Given the description of an element on the screen output the (x, y) to click on. 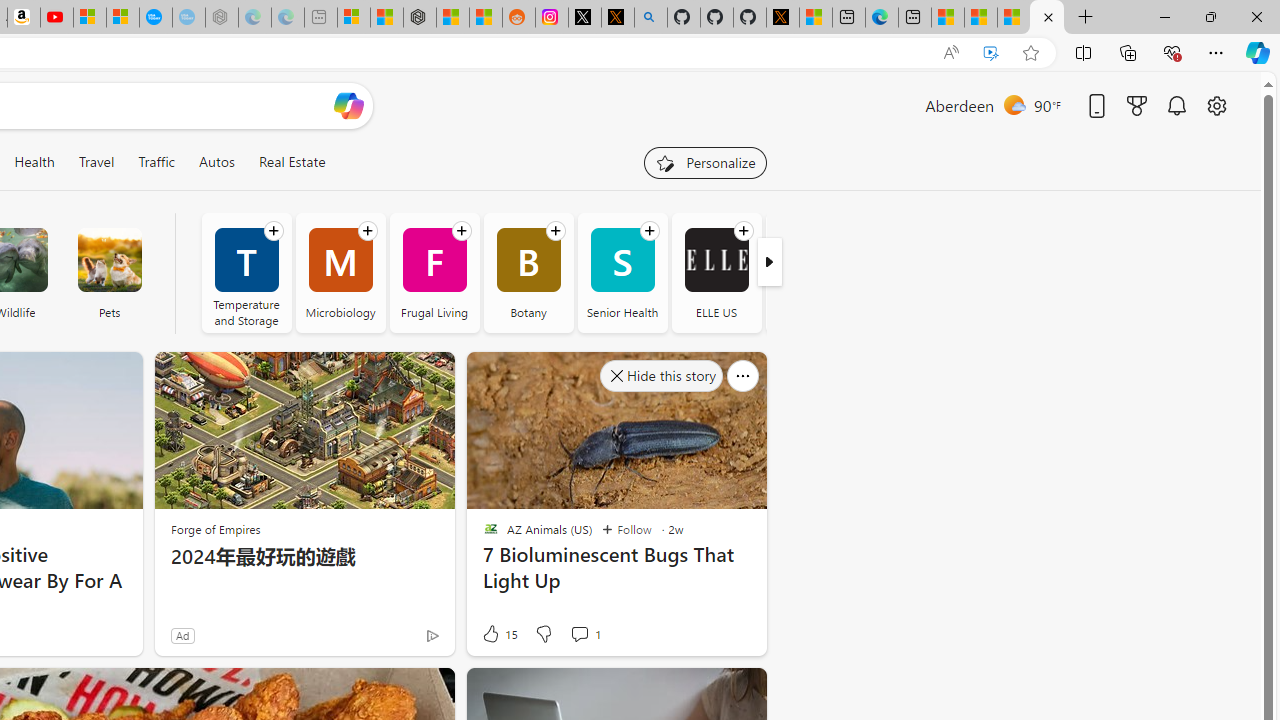
Health (34, 162)
SB Nation (810, 272)
MSNBC - MSN (981, 17)
Real Estate (291, 161)
Opinion: Op-Ed and Commentary - USA TODAY (155, 17)
X Privacy Policy (782, 17)
Autos (216, 162)
Log in to X / X (585, 17)
